Given the description of an element on the screen output the (x, y) to click on. 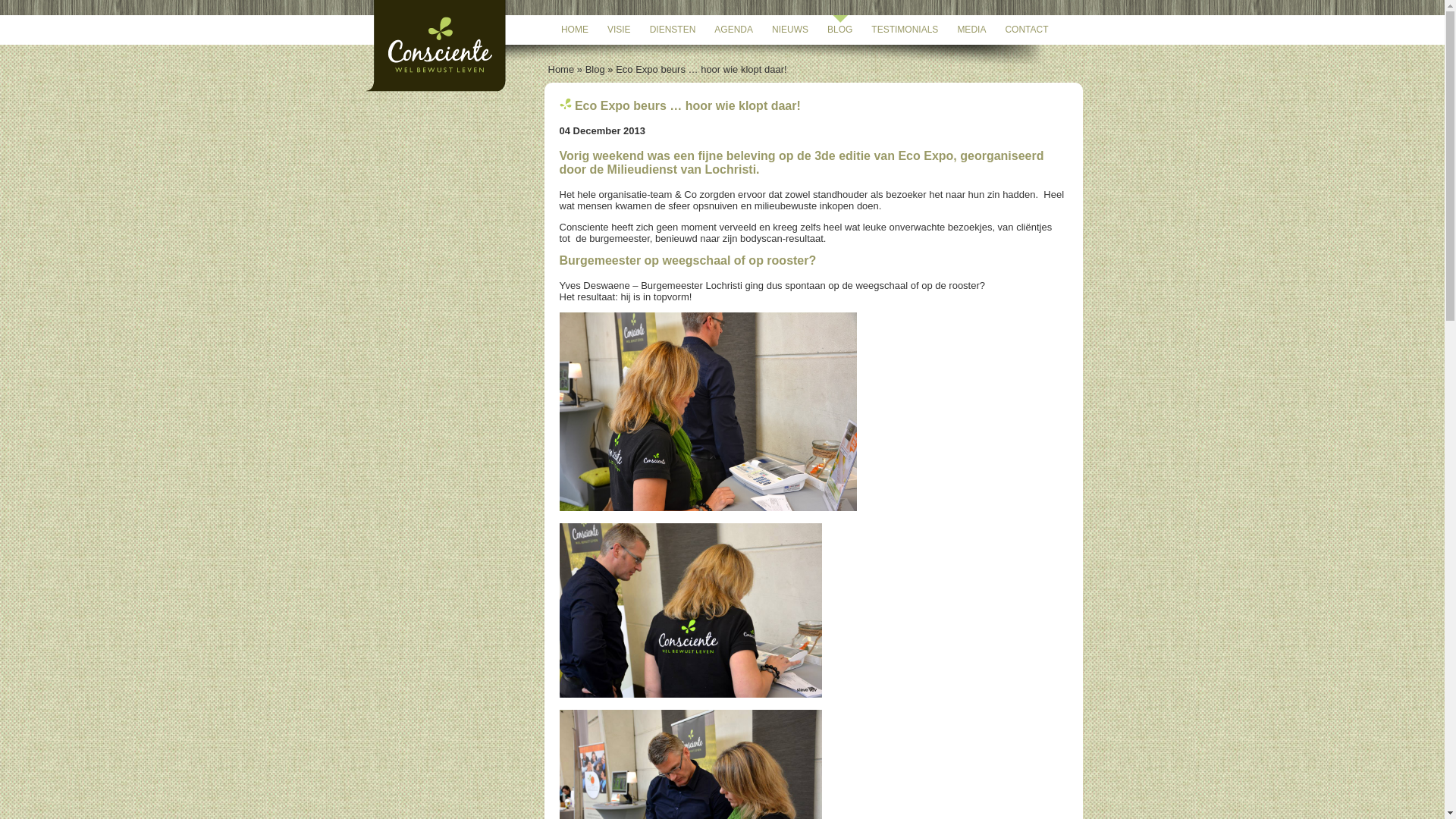
AGENDA Element type: text (733, 29)
BLOG Element type: text (839, 29)
CONTACT Element type: text (1026, 29)
MEDIA Element type: text (971, 29)
TESTIMONIALS Element type: text (904, 29)
Home Element type: text (560, 69)
HOME Element type: text (574, 29)
NIEUWS Element type: text (789, 29)
Blog Element type: text (595, 69)
VISIE Element type: text (618, 29)
DIENSTEN Element type: text (672, 29)
